Given the description of an element on the screen output the (x, y) to click on. 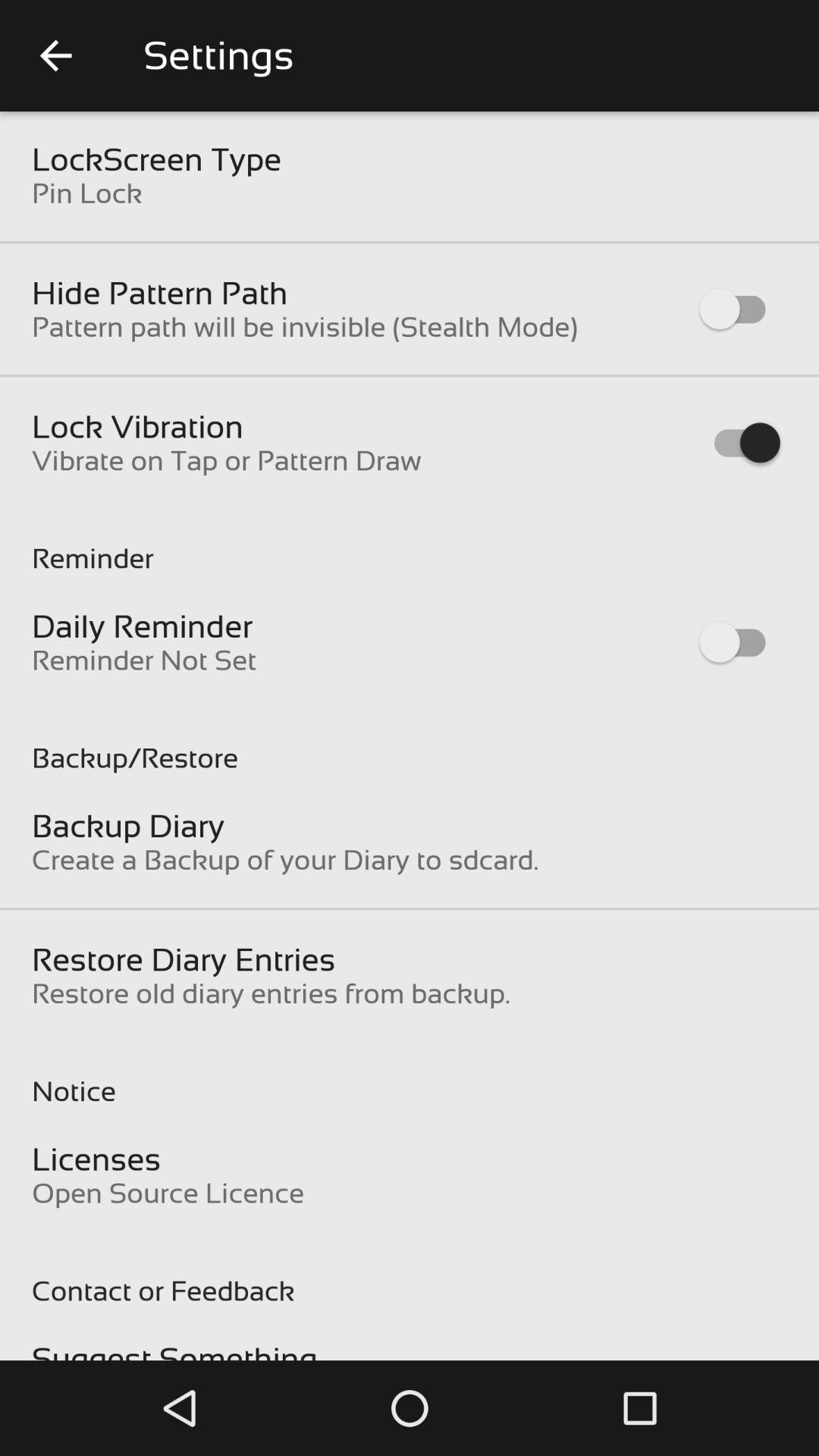
scroll until open source licence item (167, 1193)
